Given the description of an element on the screen output the (x, y) to click on. 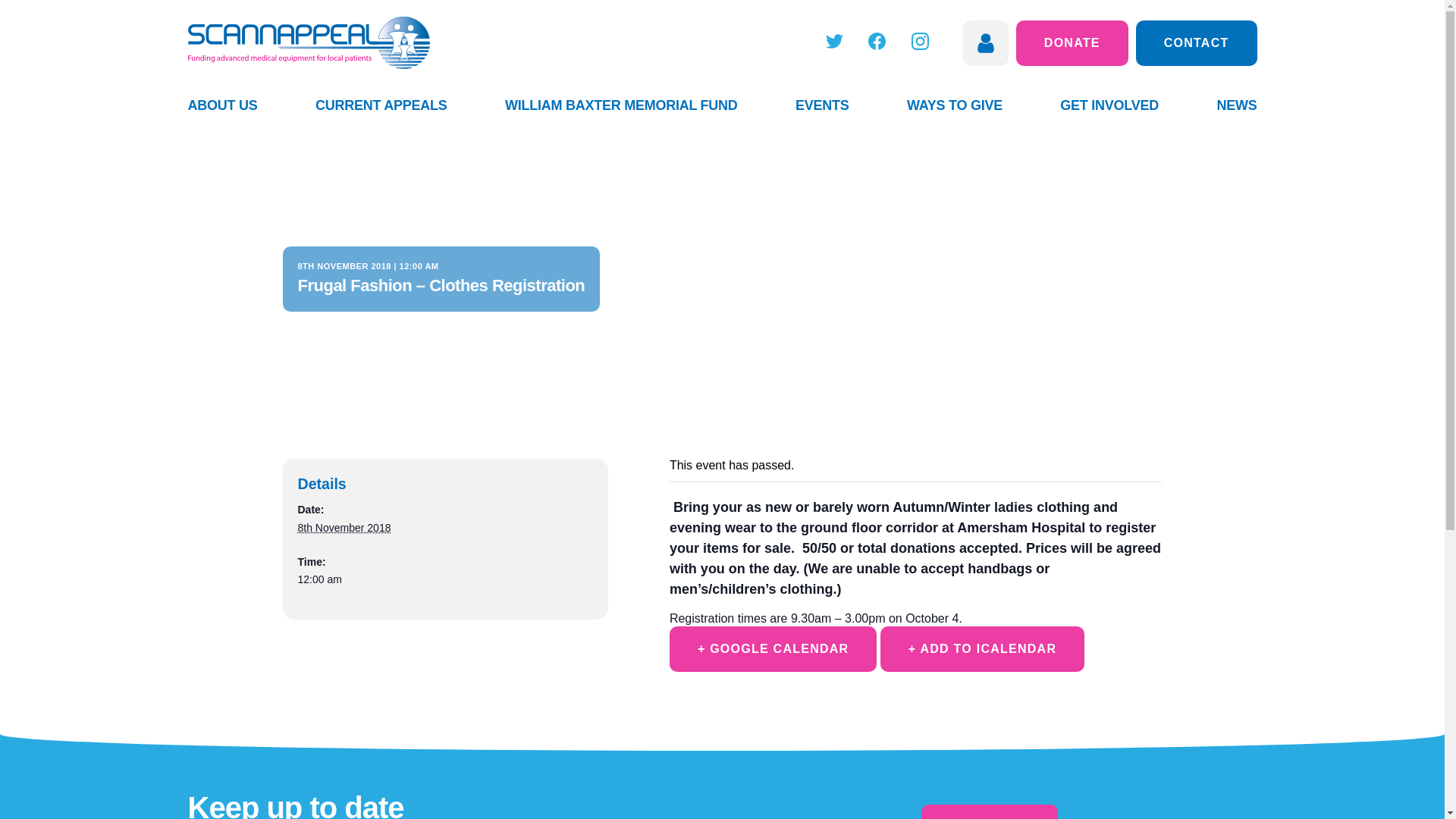
GET INVOLVED (1108, 105)
CURRENT APPEALS (380, 105)
2018-11-08 (343, 527)
ABOUT US (222, 105)
2018-11-08 (444, 579)
WAYS TO GIVE (955, 105)
CONTACT (1196, 42)
DONATE (1072, 42)
WILLIAM BAXTER MEMORIAL FUND (621, 105)
NEWS (1235, 105)
